Given the description of an element on the screen output the (x, y) to click on. 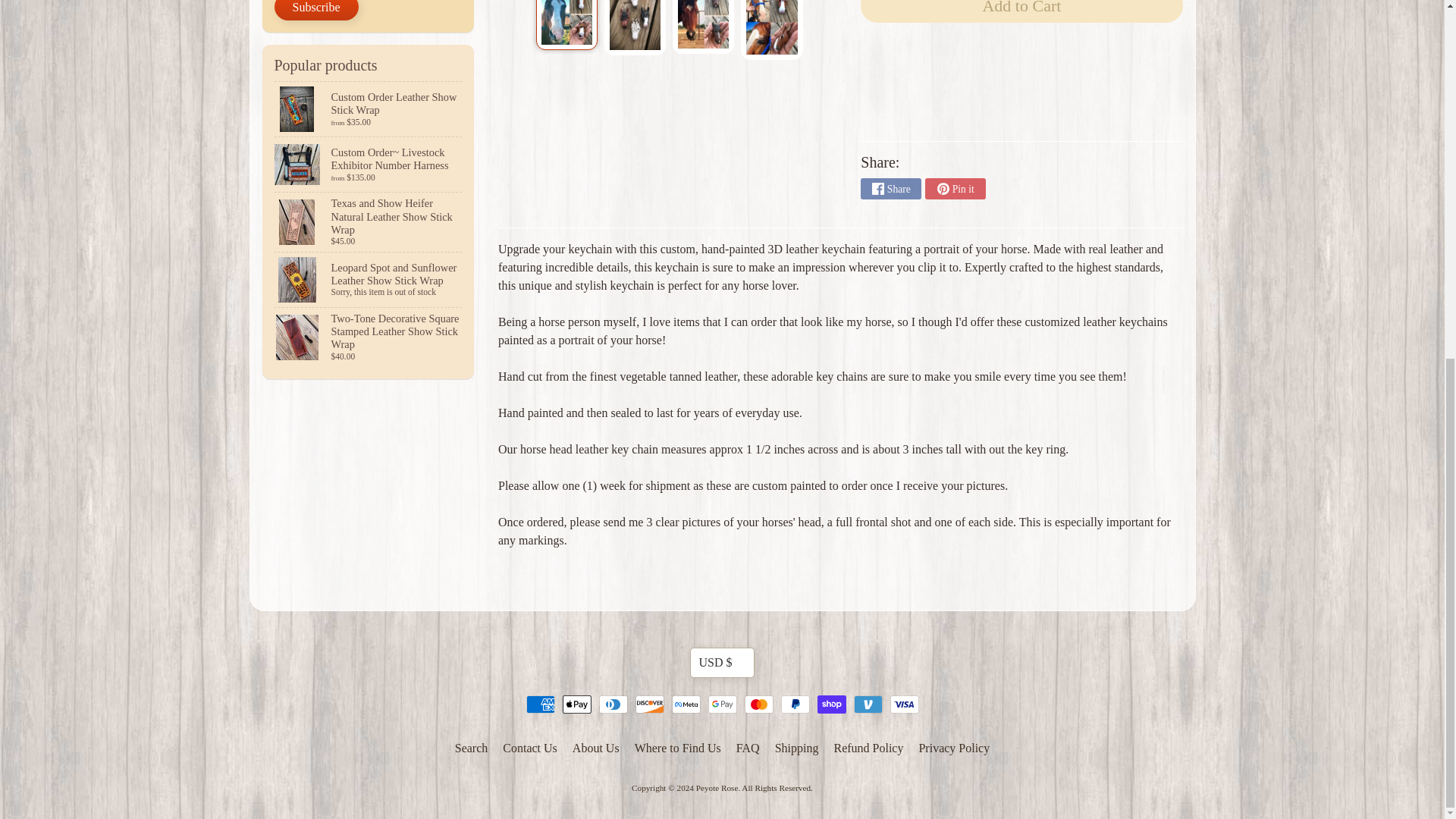
American Express (539, 704)
Pin on Pinterest (954, 188)
Venmo (867, 704)
Visa (903, 704)
Custom Order Leather Show Stick Wrap (369, 108)
Share on Facebook (890, 188)
Shop Pay (830, 704)
PayPal (794, 704)
Google Pay (721, 704)
Two-Tone Decorative Square Stamped Leather Show Stick Wrap (369, 336)
